Given the description of an element on the screen output the (x, y) to click on. 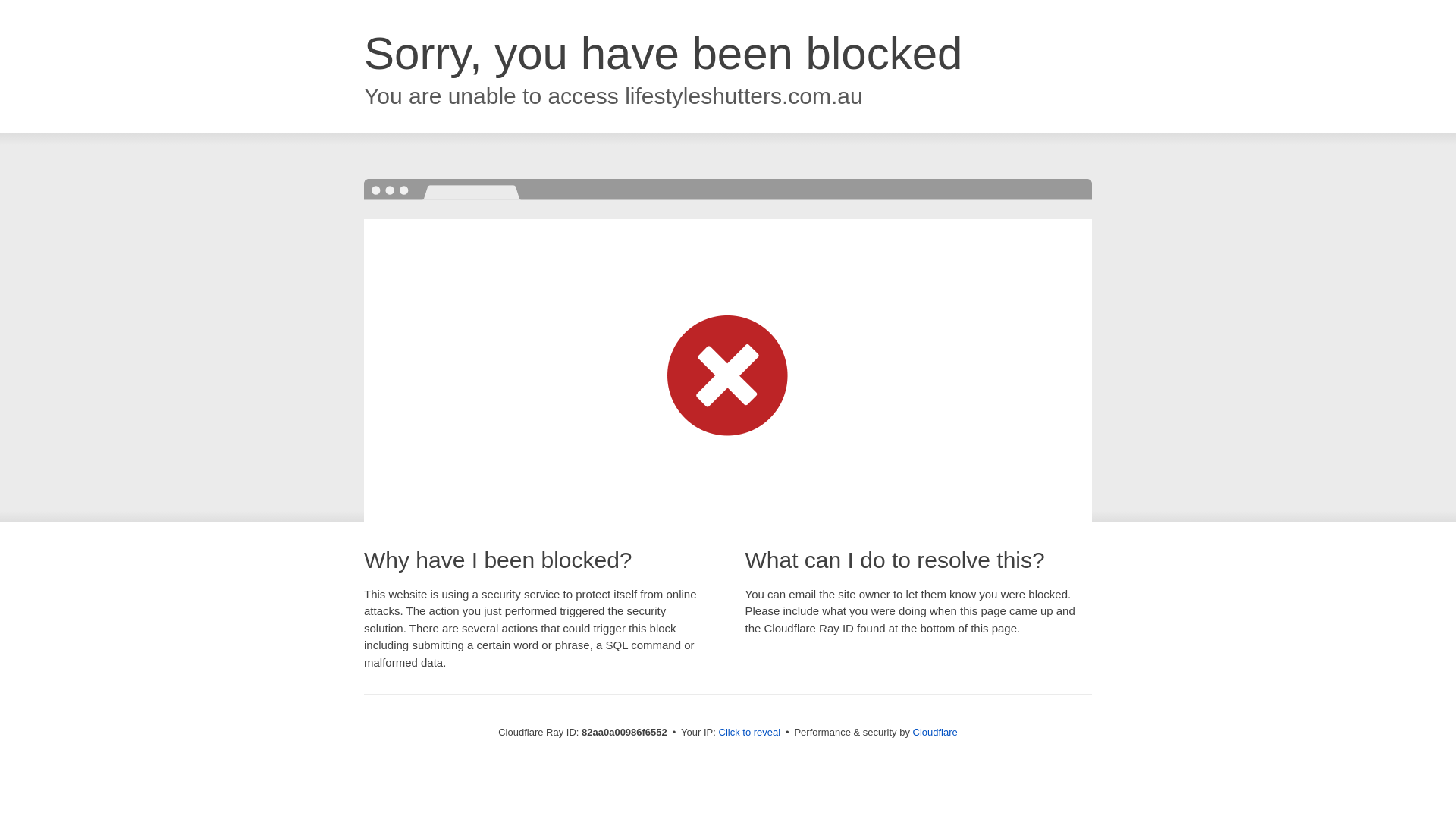
Cloudflare Element type: text (935, 731)
Click to reveal Element type: text (749, 732)
